Given the description of an element on the screen output the (x, y) to click on. 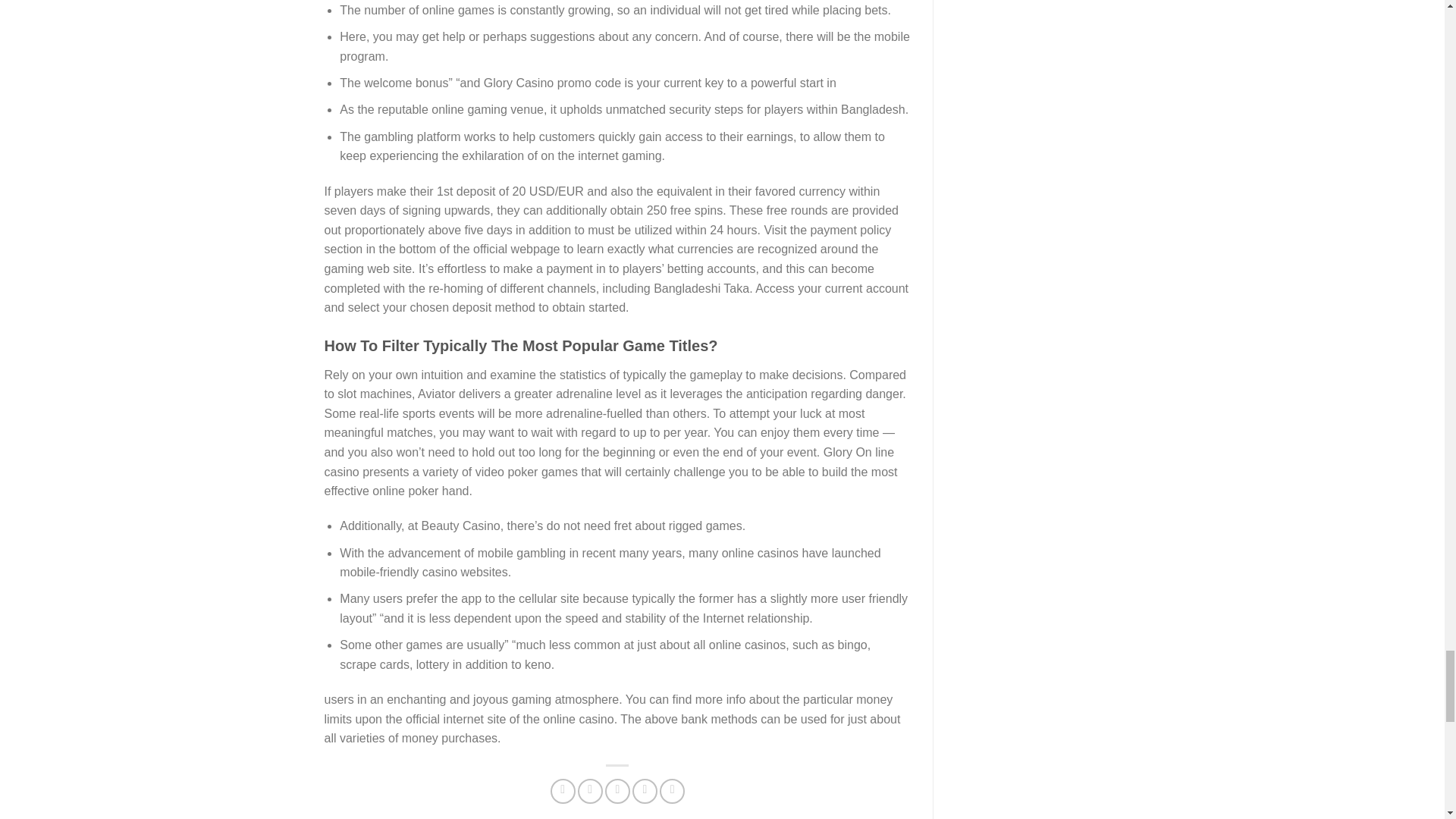
Stuur door naar een vriend (617, 790)
Pin op Pinterest (644, 790)
Deel op Facebook (562, 790)
Share on LinkedIn (671, 790)
Deel op Twitter (590, 790)
